Given the description of an element on the screen output the (x, y) to click on. 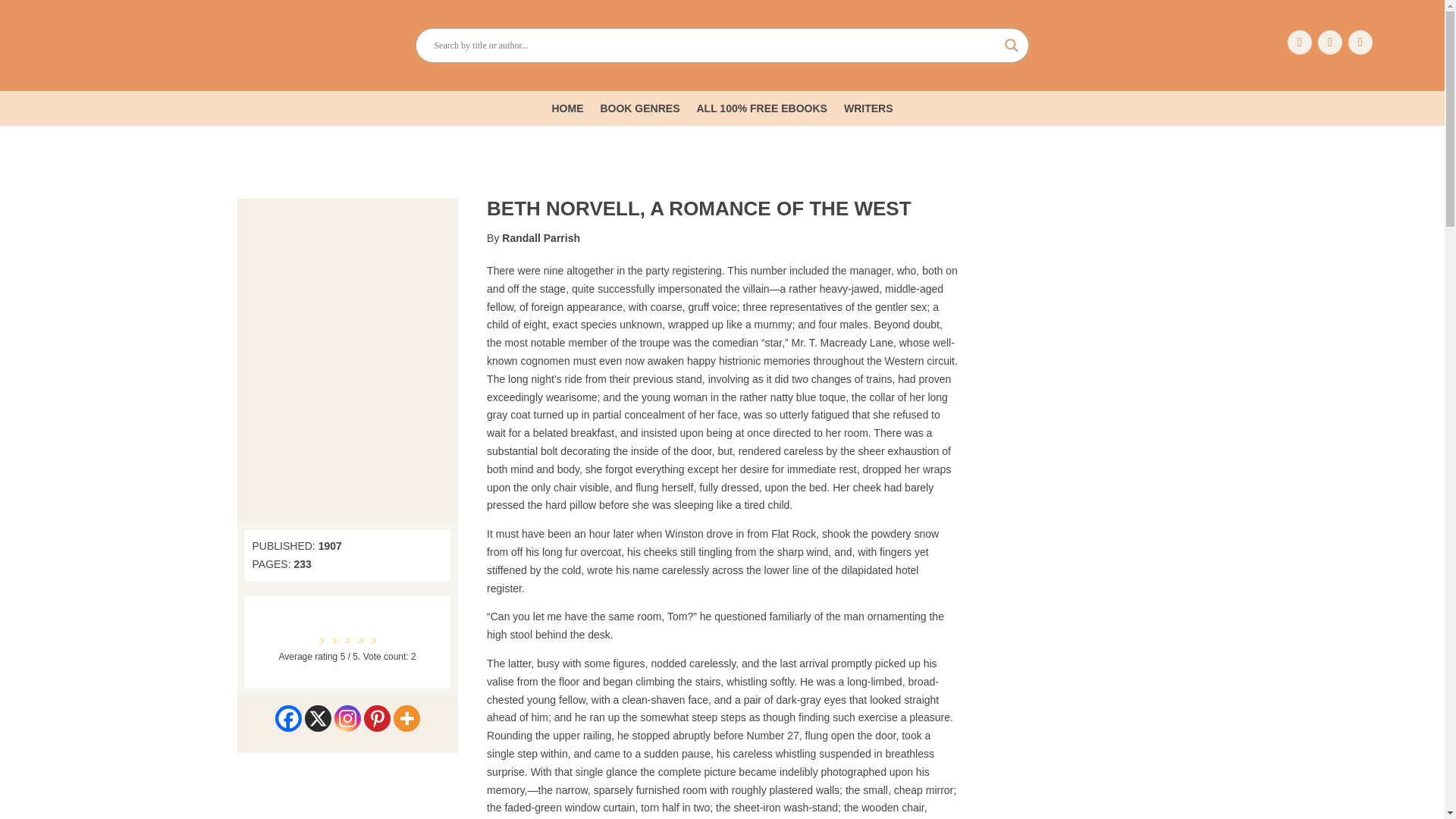
X (317, 718)
Follow on X (1329, 42)
Follow on Instagram (1360, 42)
Follow on Facebook (1299, 42)
More (406, 718)
Instagram (347, 718)
Facebook (288, 718)
Evlum Free Online Ebooks (126, 45)
WRITERS (868, 111)
BOOK GENRES (639, 111)
